Given the description of an element on the screen output the (x, y) to click on. 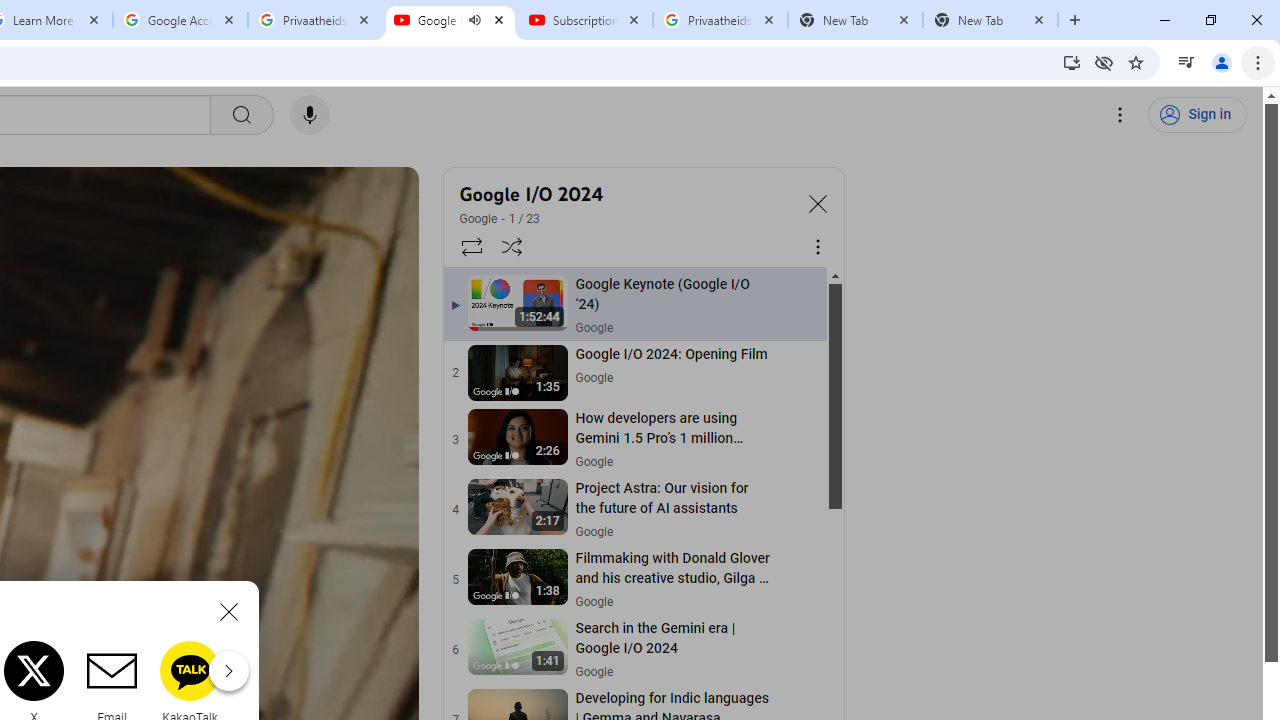
Google Account (180, 20)
Collapse (817, 202)
Action menu (798, 650)
Cancel (228, 611)
Subscriptions - YouTube (585, 20)
Google (479, 218)
Mute tab (474, 20)
New Tab (990, 20)
Shuffle playlist (511, 246)
